Given the description of an element on the screen output the (x, y) to click on. 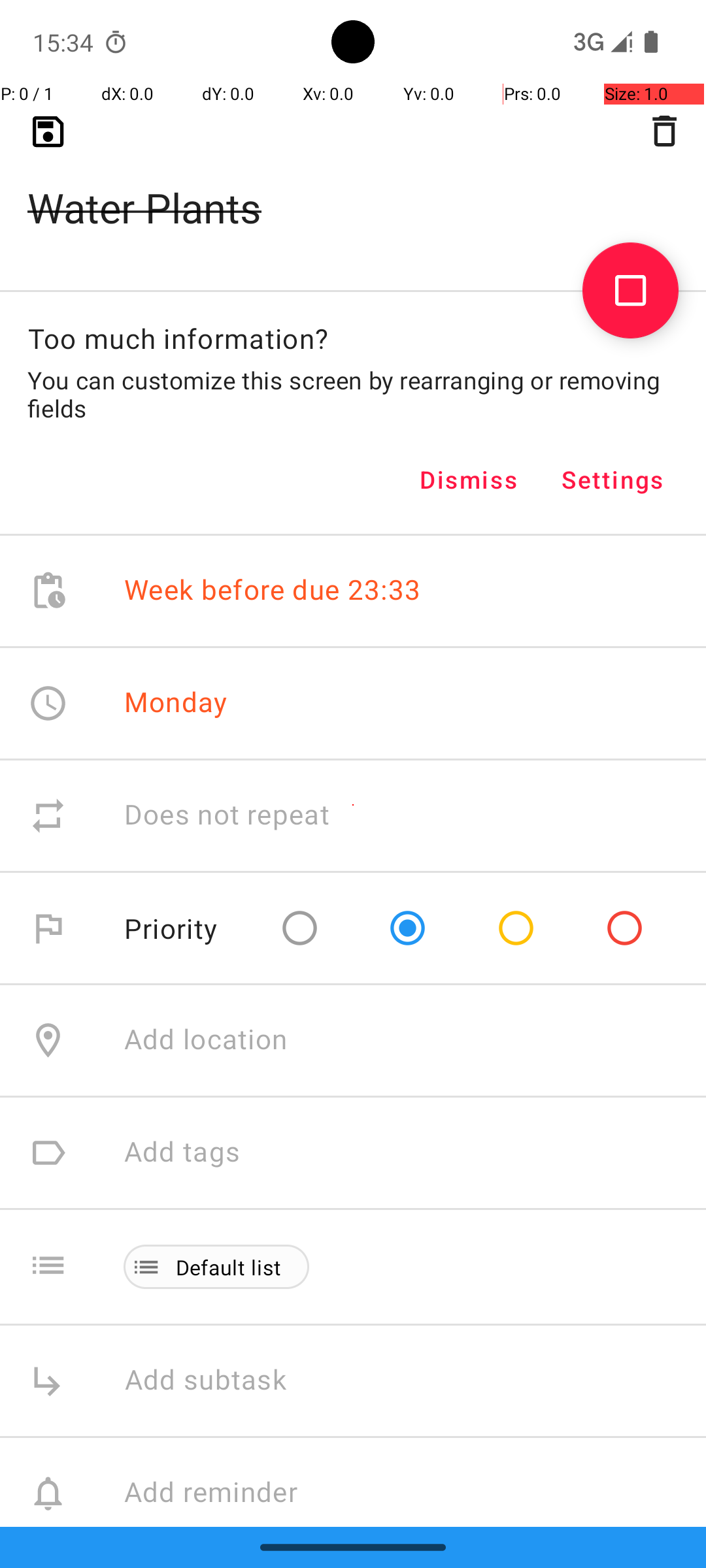
Week before due 23:33 Element type: android.widget.TextView (272, 590)
